Given the description of an element on the screen output the (x, y) to click on. 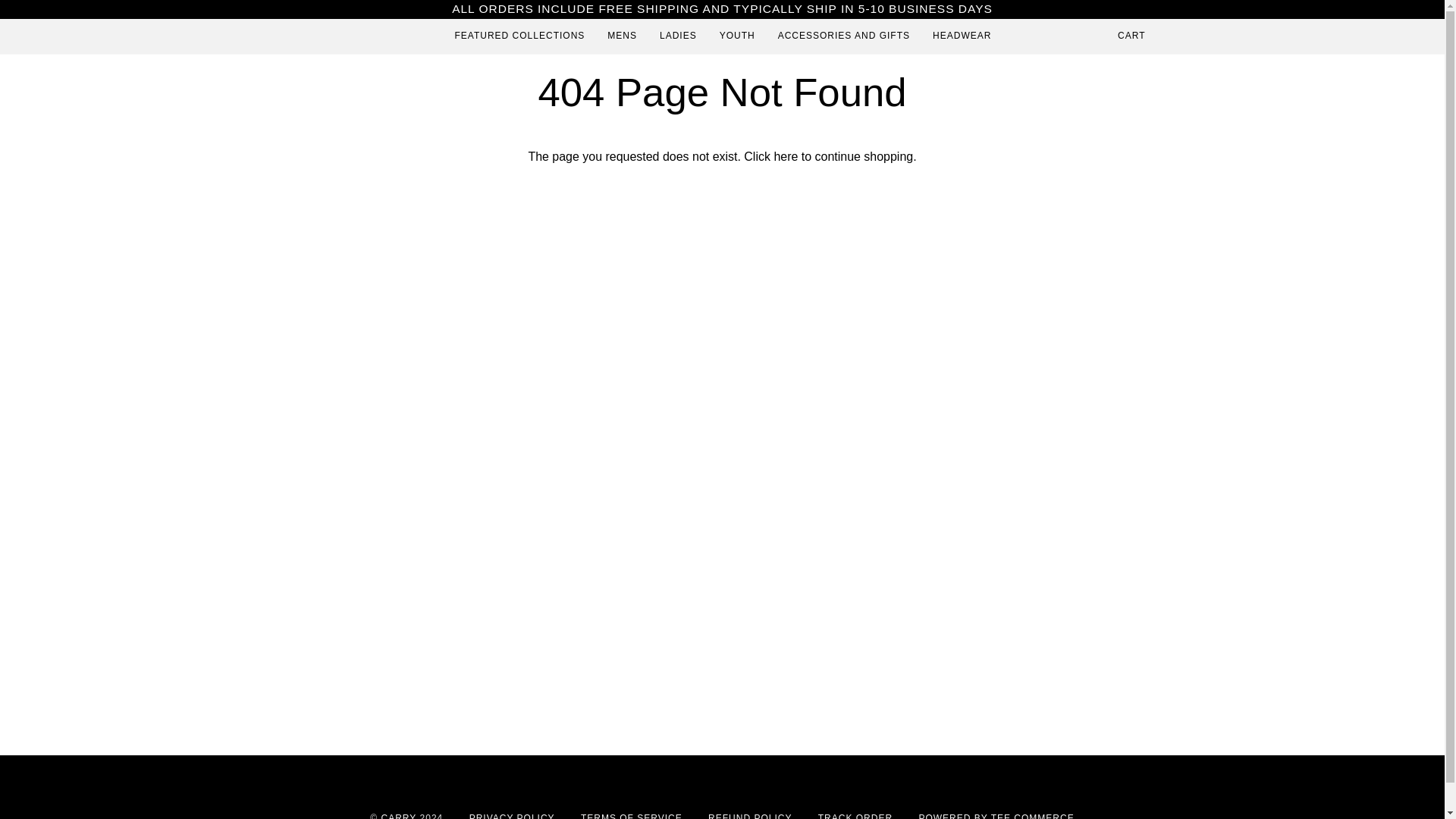
ACCESSORIES AND GIFTS (844, 36)
YOUTH (737, 36)
FEATURED COLLECTIONS (518, 36)
HEADWEAR (962, 36)
CART (1131, 36)
LADIES (677, 36)
MENS (621, 36)
